Given the description of an element on the screen output the (x, y) to click on. 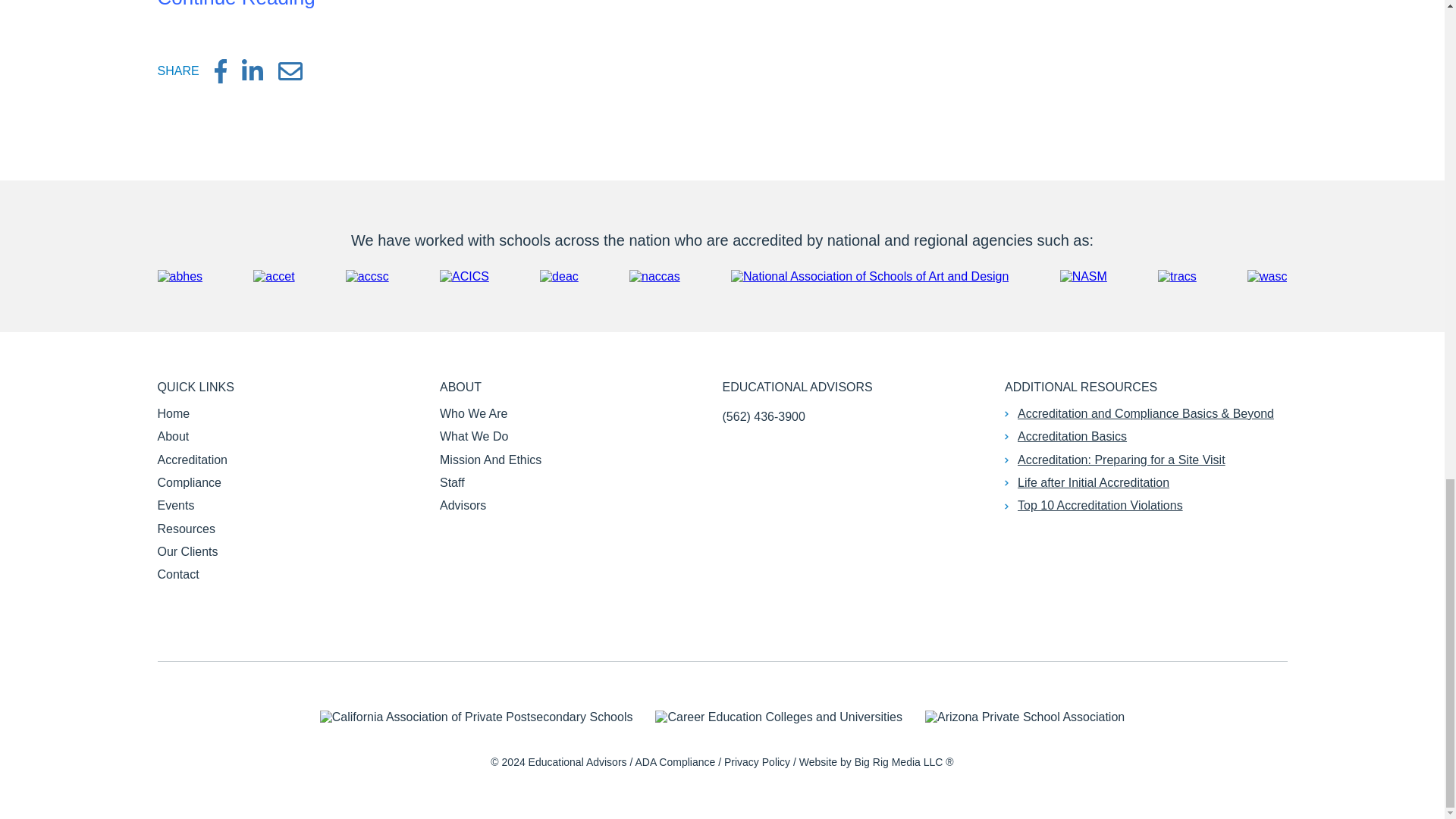
accsc (367, 276)
deac (559, 276)
tracs (1176, 276)
abhes (180, 276)
Continue Reading (236, 4)
accet (273, 276)
ACICS (464, 276)
naccas (653, 276)
wasc (1267, 276)
National Association of Schools of Art and Design (869, 276)
